Given the description of an element on the screen output the (x, y) to click on. 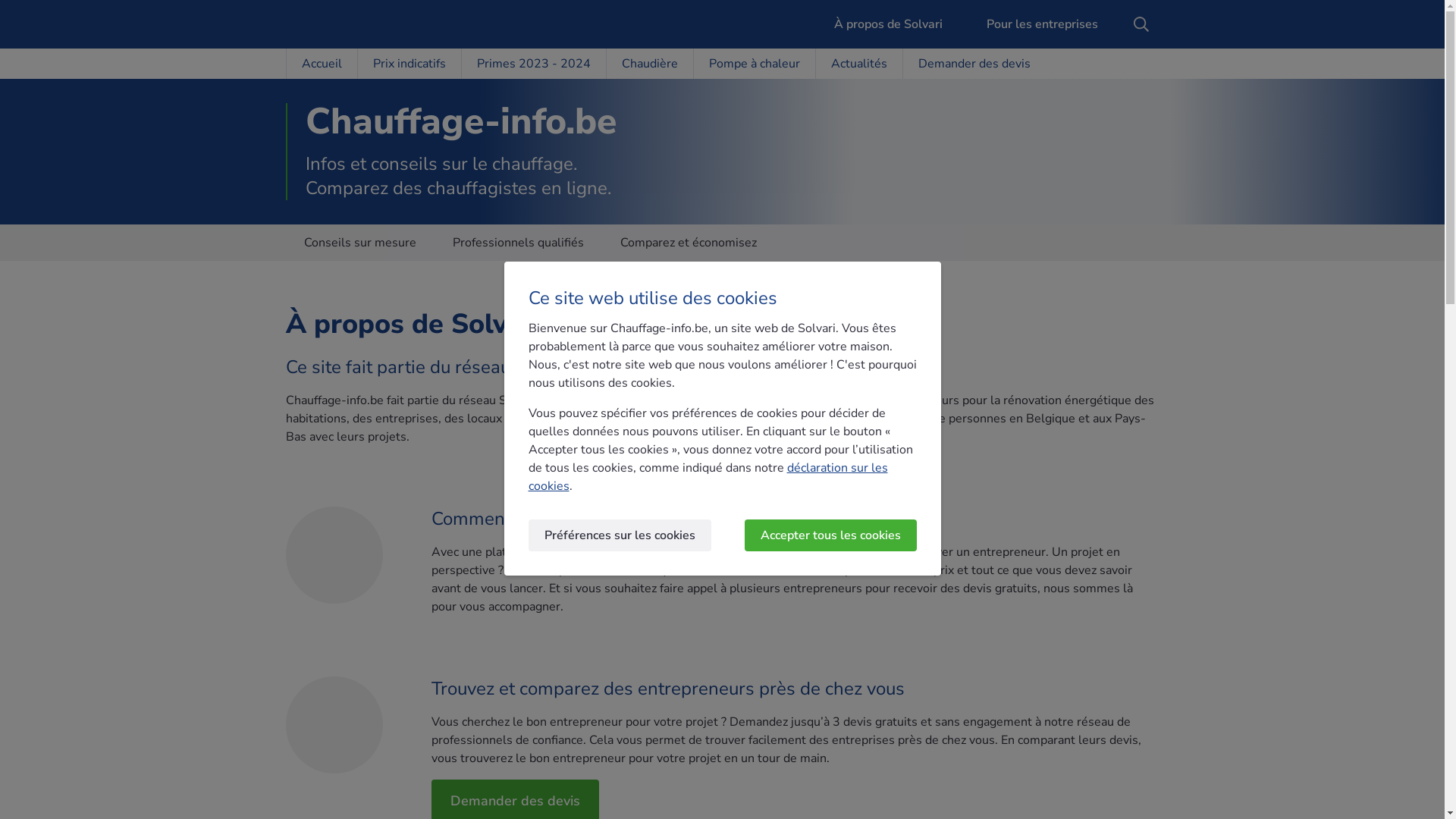
Accueil Element type: text (320, 63)
Demander des devis Element type: text (973, 63)
Prix indicatifs Element type: text (408, 63)
Primes 2023 - 2024 Element type: text (533, 63)
Pour les entreprises Element type: text (1032, 24)
Accepter tous les cookies Element type: text (830, 535)
